Given the description of an element on the screen output the (x, y) to click on. 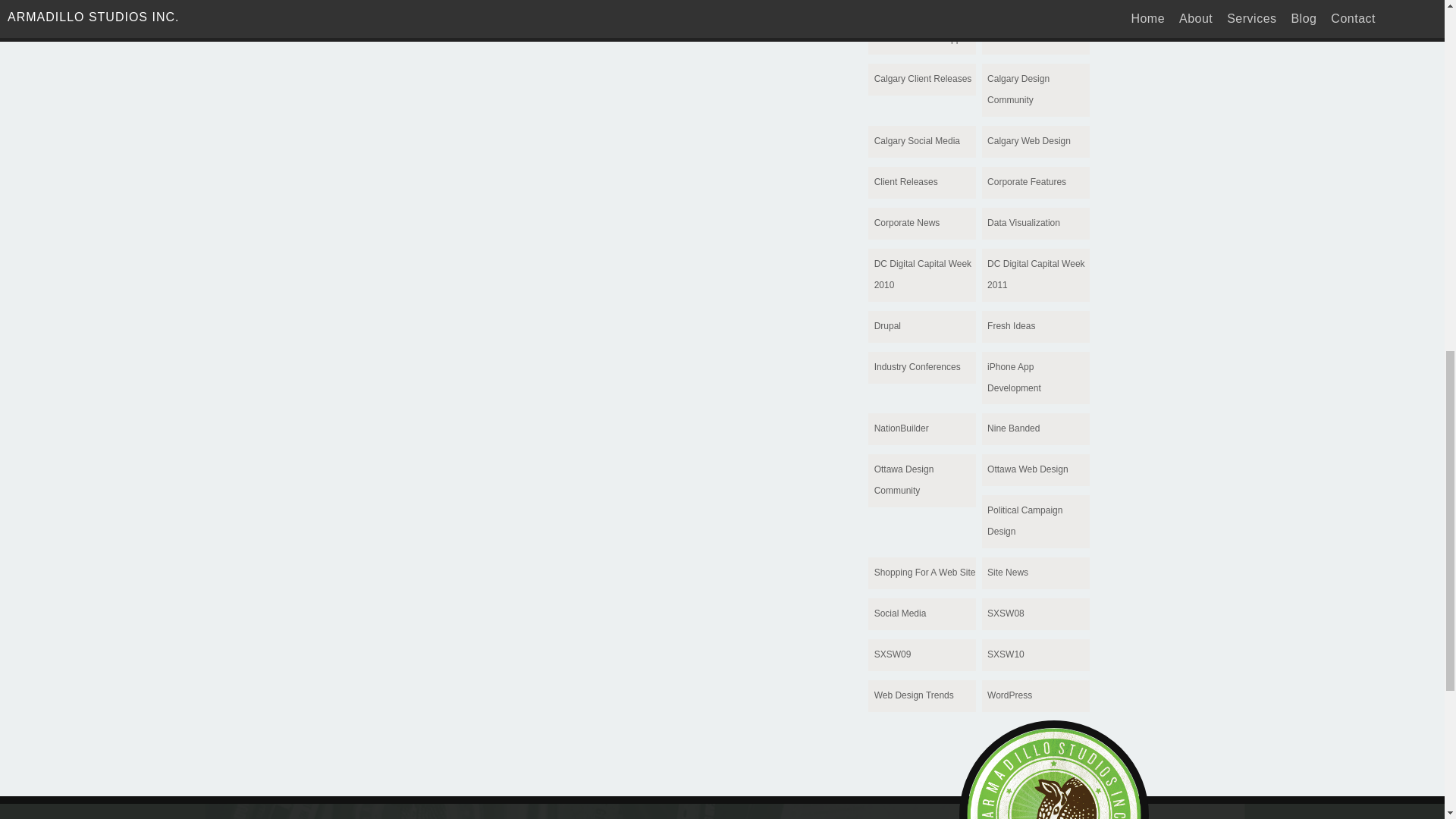
Nine Banded (1035, 429)
Corporate News (921, 223)
NationBuilder (921, 429)
Calgary Web Design (1035, 142)
Armadillo Gives Back (1035, 7)
Armadillo iPhone Apps (921, 39)
Shopping For A Web Site (921, 572)
Armadillo Downloads (921, 7)
DC Digital Capital Week 2010 (921, 275)
Calgary Design Community (1035, 90)
iPhone App Development (1035, 378)
Data Visualization (1035, 223)
Corporate Features (1035, 183)
Client Releases (921, 183)
Fresh Ideas (1035, 327)
